Given the description of an element on the screen output the (x, y) to click on. 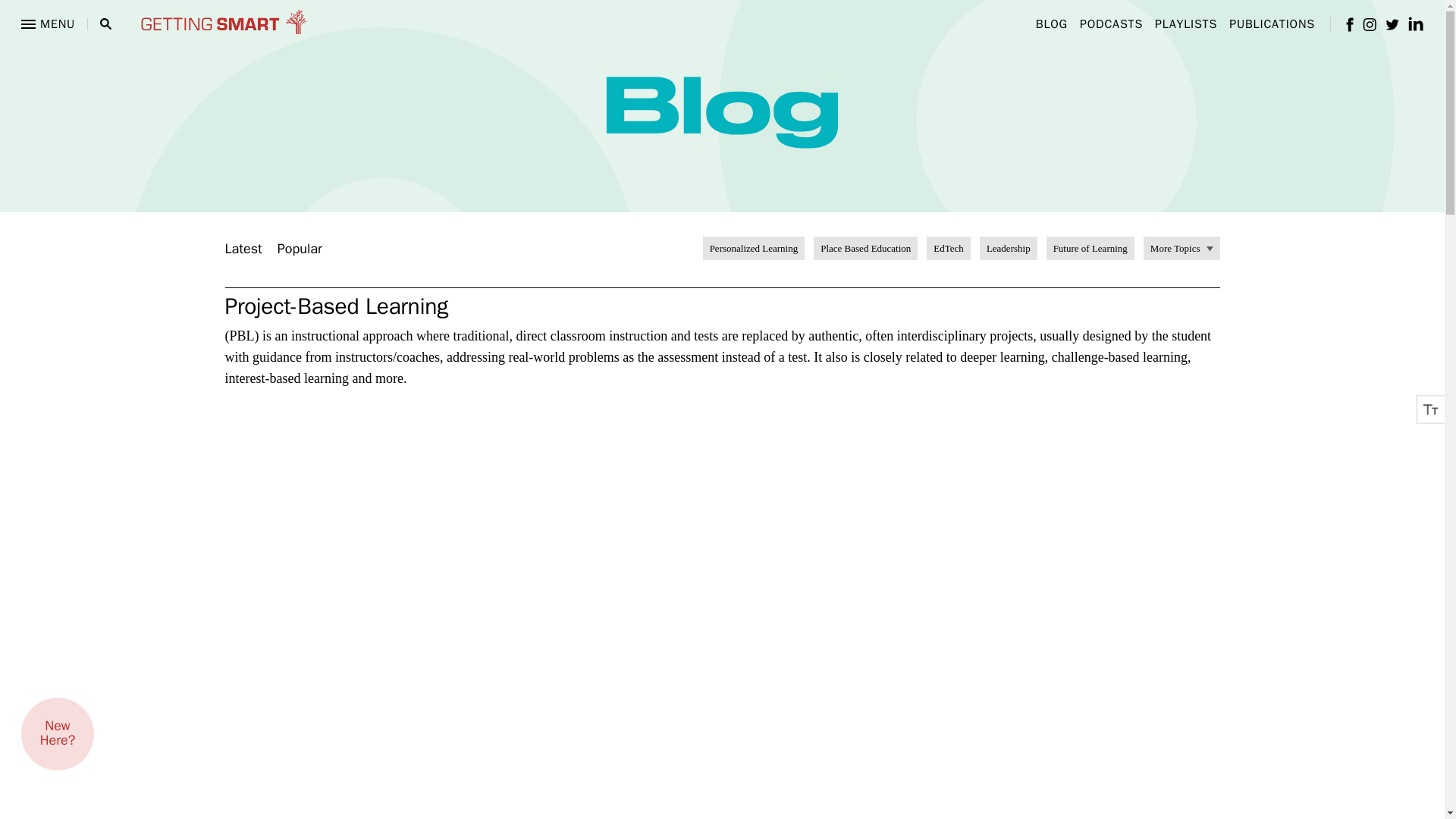
linkedin (1415, 23)
PODCASTS (1111, 23)
instagram (1368, 24)
MENU (48, 24)
twitter (1392, 23)
PUBLICATIONS (1271, 23)
BLOG (1051, 23)
PLAYLISTS (1185, 23)
